Given the description of an element on the screen output the (x, y) to click on. 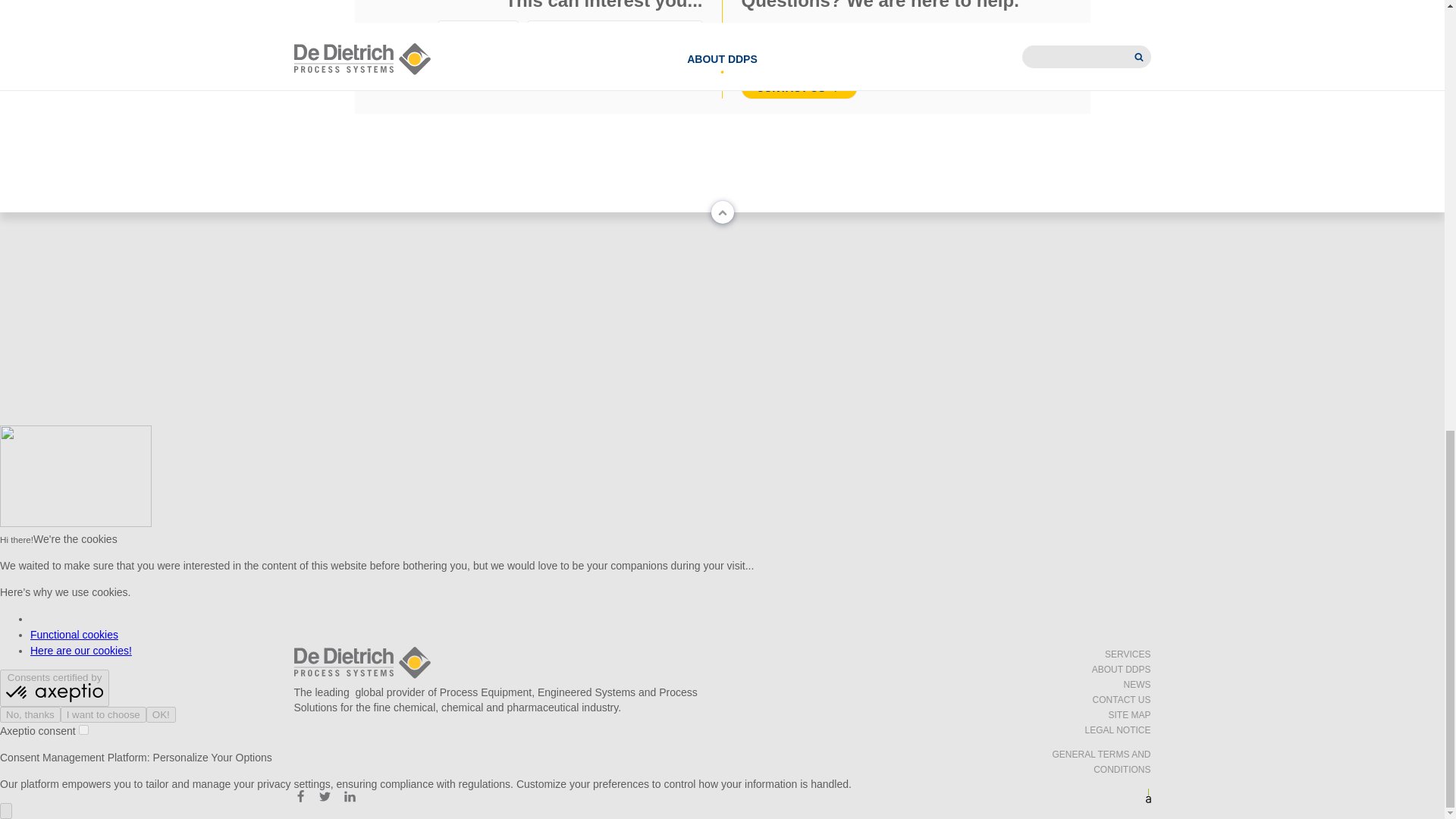
CONTACT US (799, 87)
Discover our corporate website (614, 31)
Our services (478, 31)
